Given the description of an element on the screen output the (x, y) to click on. 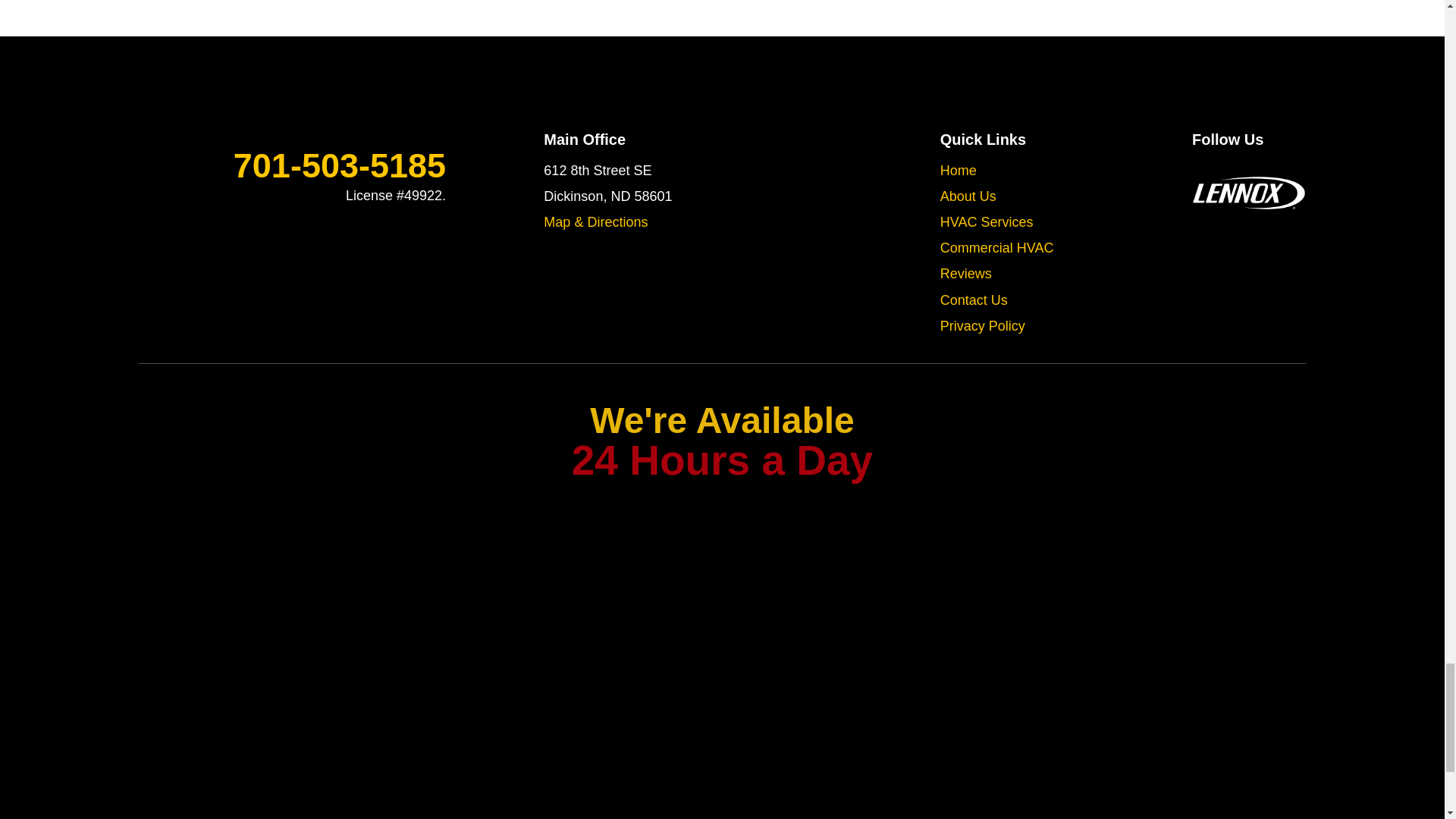
701-503-5185 (291, 165)
Home (958, 170)
Commercial HVAC (997, 247)
About Us (967, 196)
HVAC Services (986, 222)
